Given the description of an element on the screen output the (x, y) to click on. 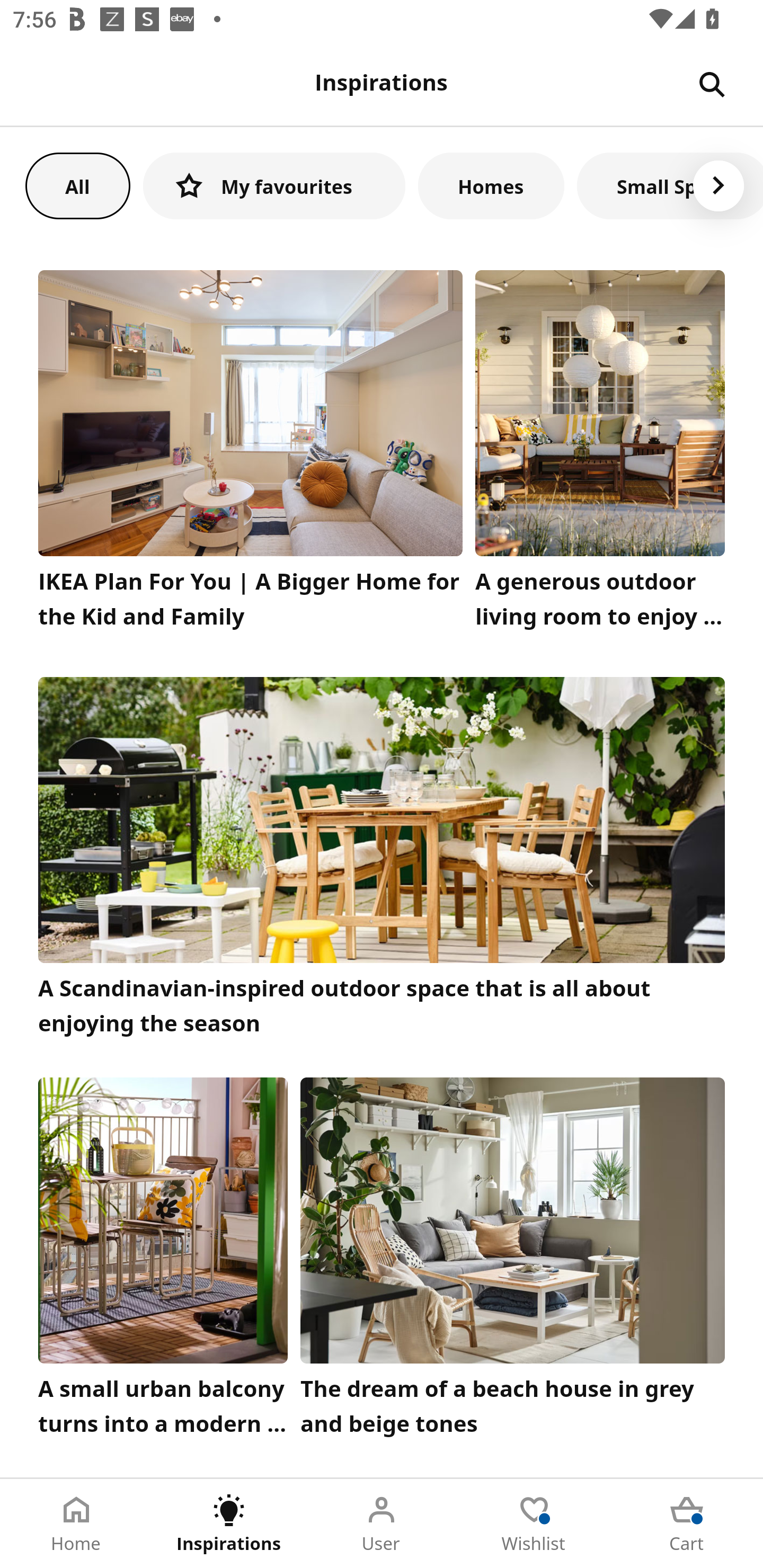
All (77, 185)
My favourites (274, 185)
Homes (491, 185)
The dream of a beach house in grey and beige tones (512, 1261)
Home
Tab 1 of 5 (76, 1522)
Inspirations
Tab 2 of 5 (228, 1522)
User
Tab 3 of 5 (381, 1522)
Wishlist
Tab 4 of 5 (533, 1522)
Cart
Tab 5 of 5 (686, 1522)
